Given the description of an element on the screen output the (x, y) to click on. 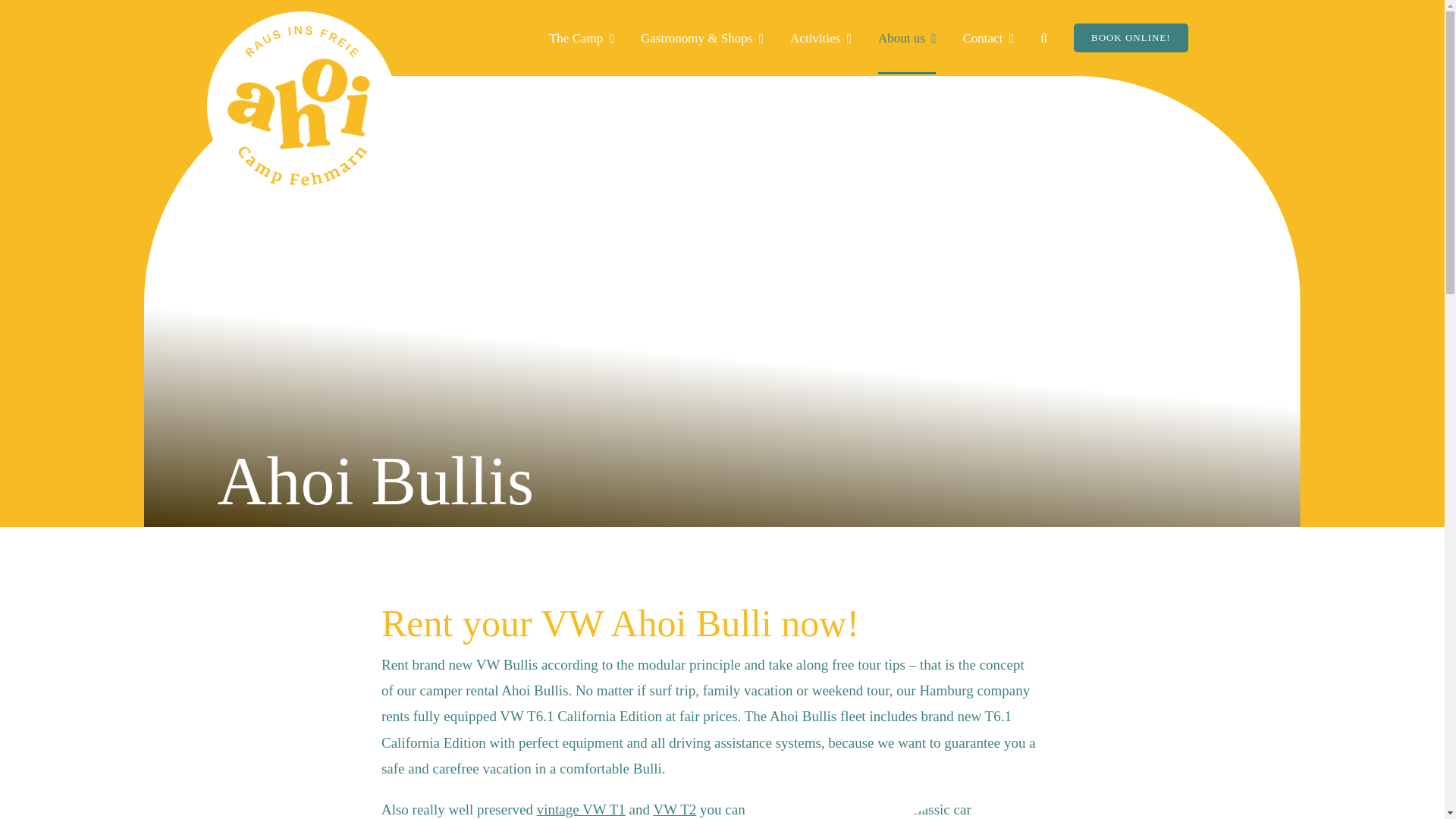
BOOK ONLINE! (1136, 37)
The Camp (587, 37)
